Given the description of an element on the screen output the (x, y) to click on. 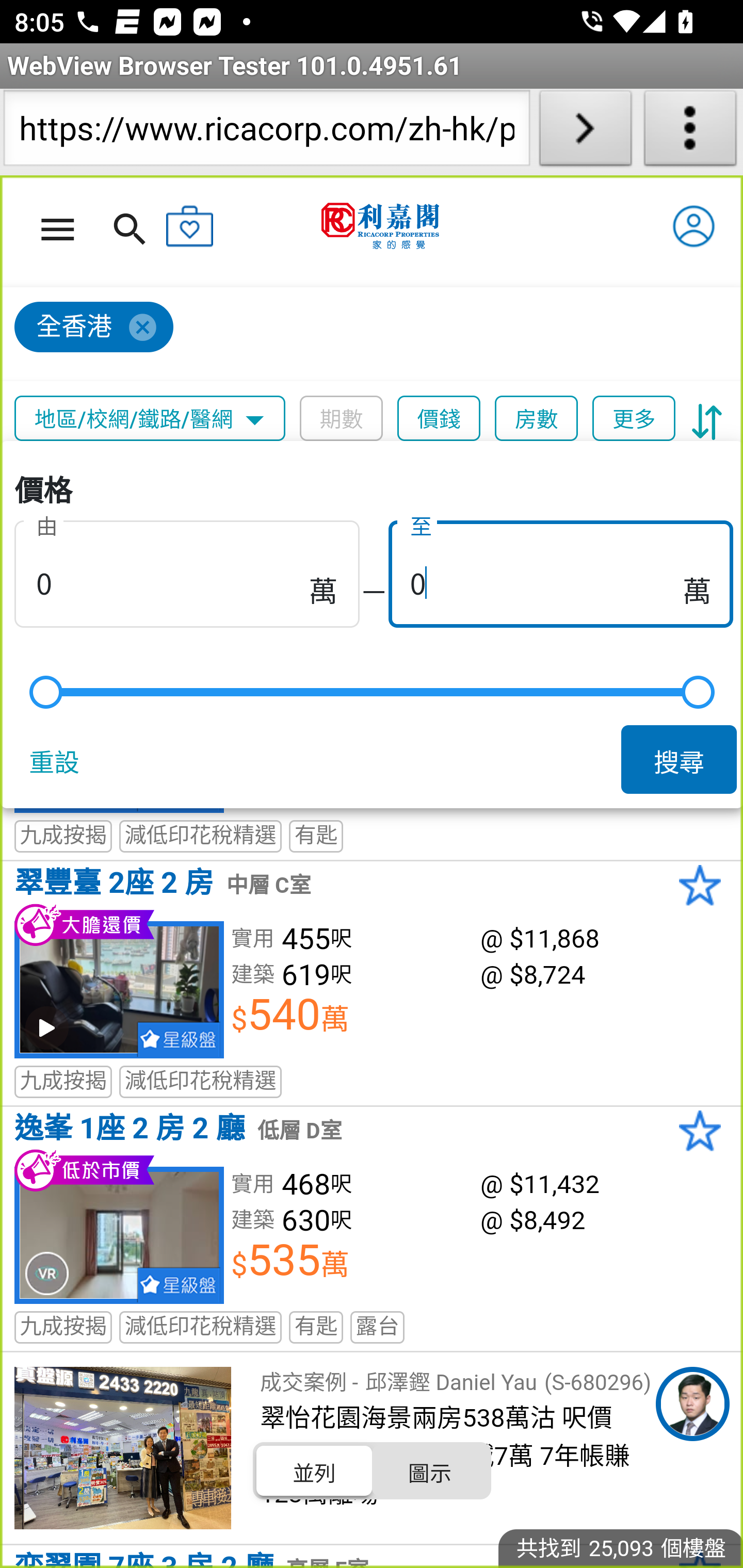
Load URL (585, 132)
About WebView (690, 132)
全香港 (94, 327)
地區/校網/鐵路/醫網 (150, 418)
期數 (341, 418)
價錢 (439, 418)
房數 (536, 418)
更多 (634, 418)
sort (706, 418)
由 0, 由 萬 (187, 569)
至 0, 至 萬 (560, 569)
重設 (57, 759)
搜尋 (679, 759)
Daniel Yau (692, 1404)
並列 (314, 1470)
圖示 (429, 1470)
